Given the description of an element on the screen output the (x, y) to click on. 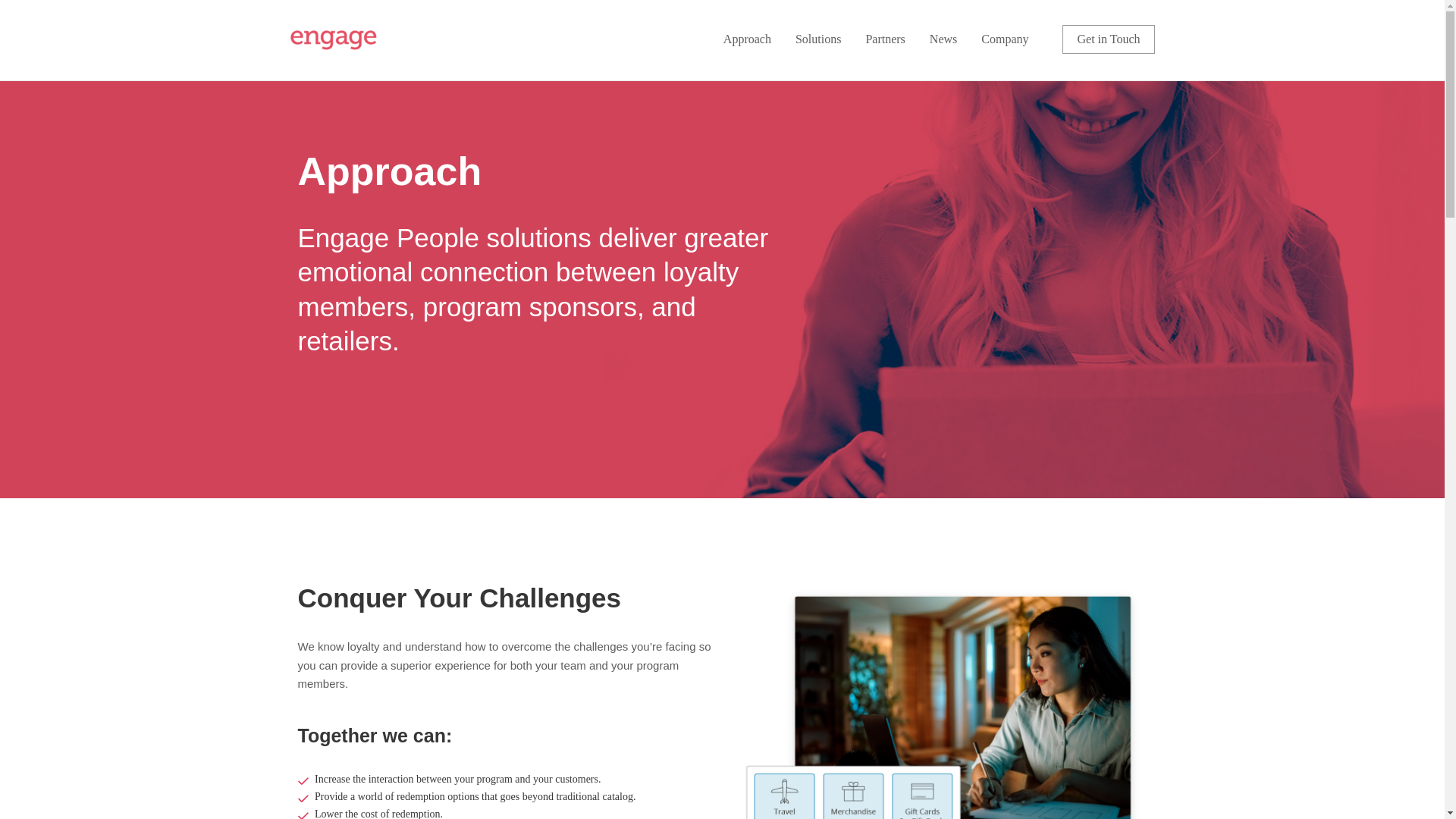
Approach (747, 39)
Partners (884, 39)
Get in Touch (1108, 38)
Solutions (817, 39)
Company (1004, 39)
